Given the description of an element on the screen output the (x, y) to click on. 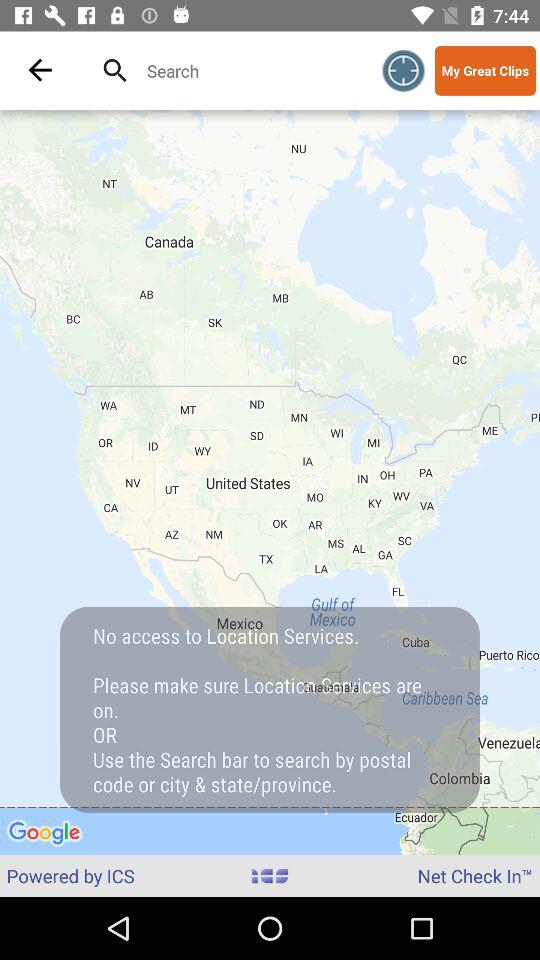
search function (248, 70)
